Given the description of an element on the screen output the (x, y) to click on. 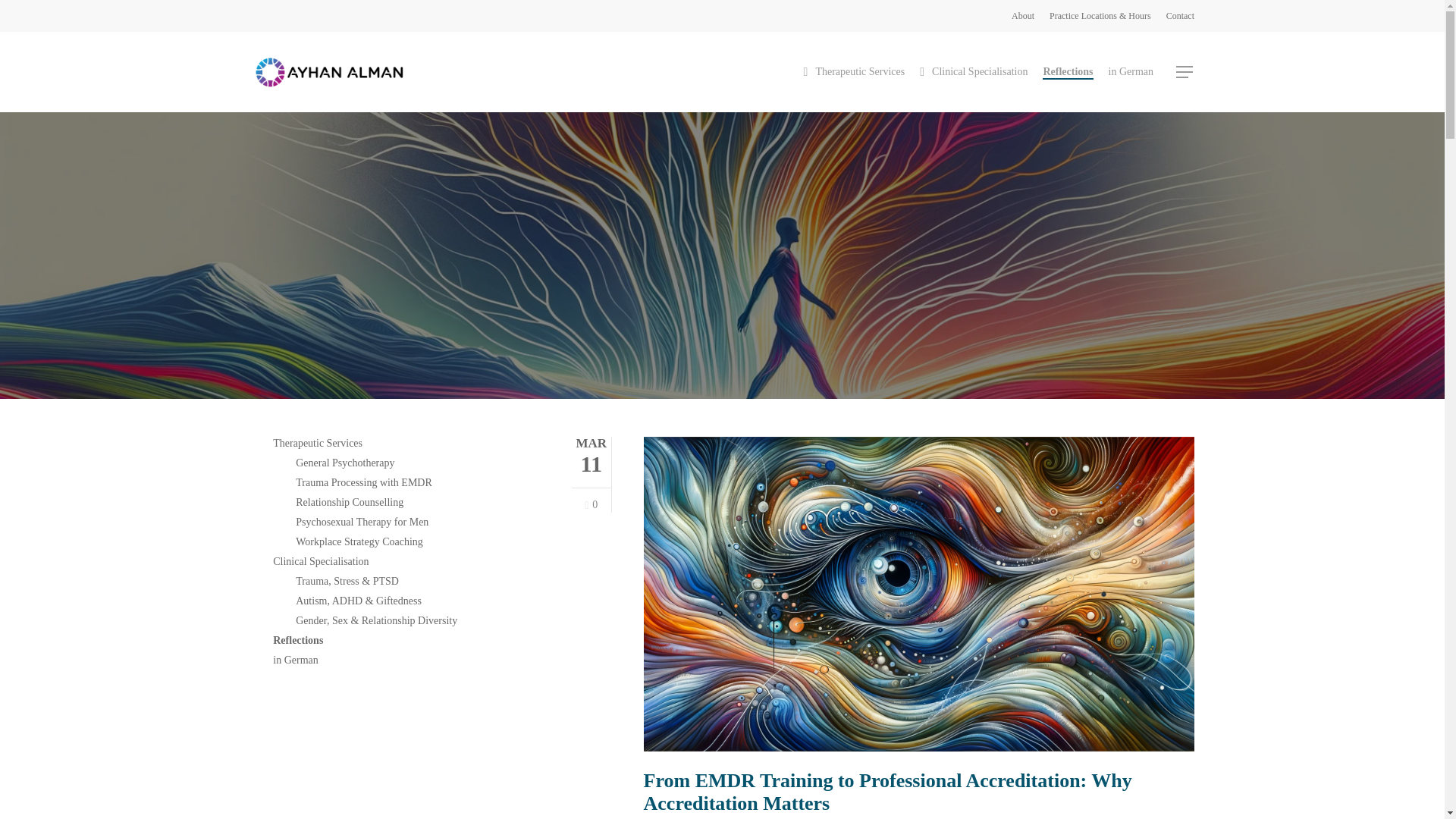
Therapeutic Services (854, 71)
General Psychotherapy (410, 463)
Clinical Specialisation (973, 71)
Workplace Strategy Coaching (410, 542)
About (1022, 15)
Contact (1179, 15)
Psychosexual Therapy for Men (410, 522)
0 (590, 505)
Reflections (1067, 71)
Love this (590, 505)
